Given the description of an element on the screen output the (x, y) to click on. 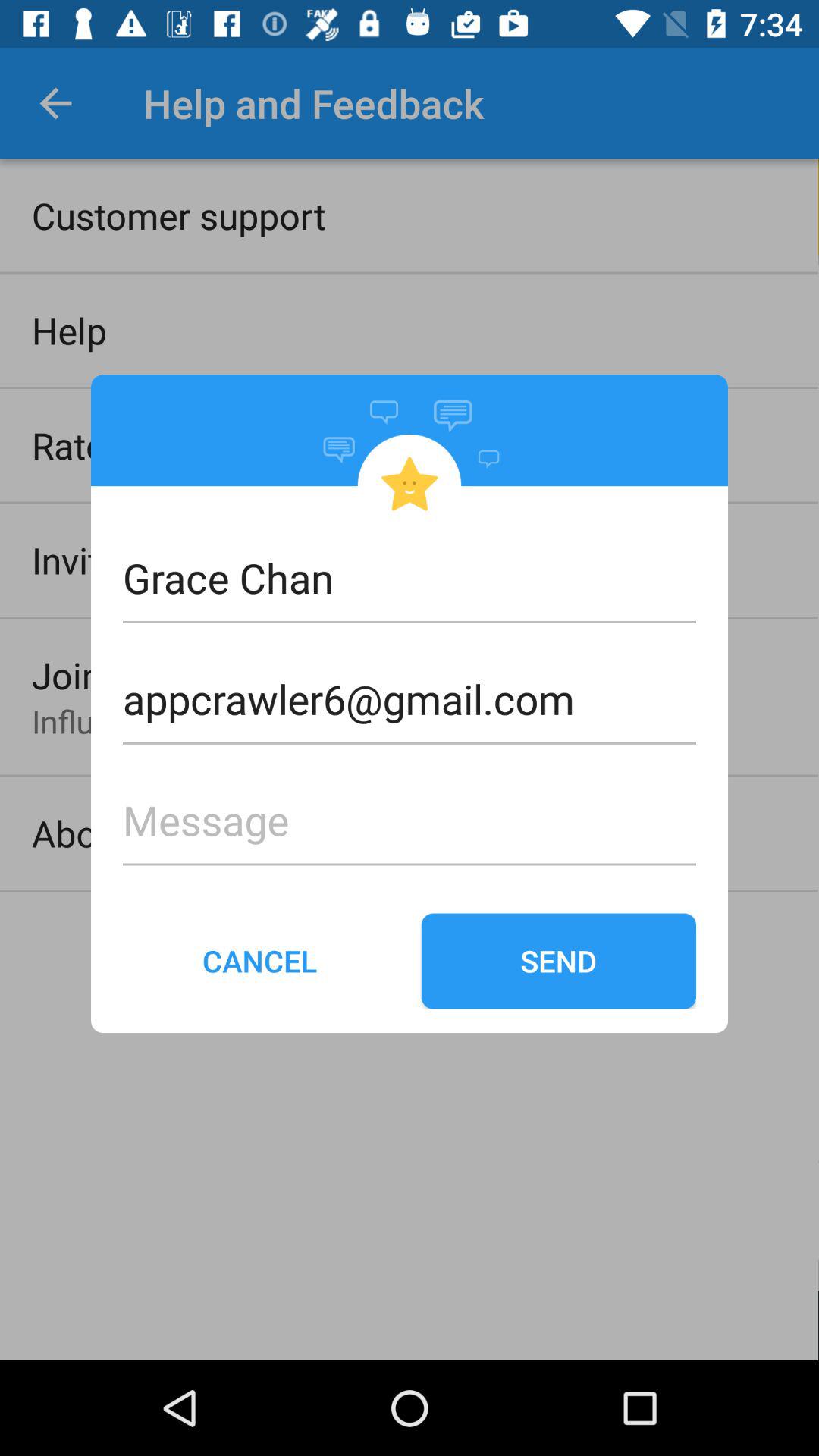
open the icon next to cancel (558, 960)
